Given the description of an element on the screen output the (x, y) to click on. 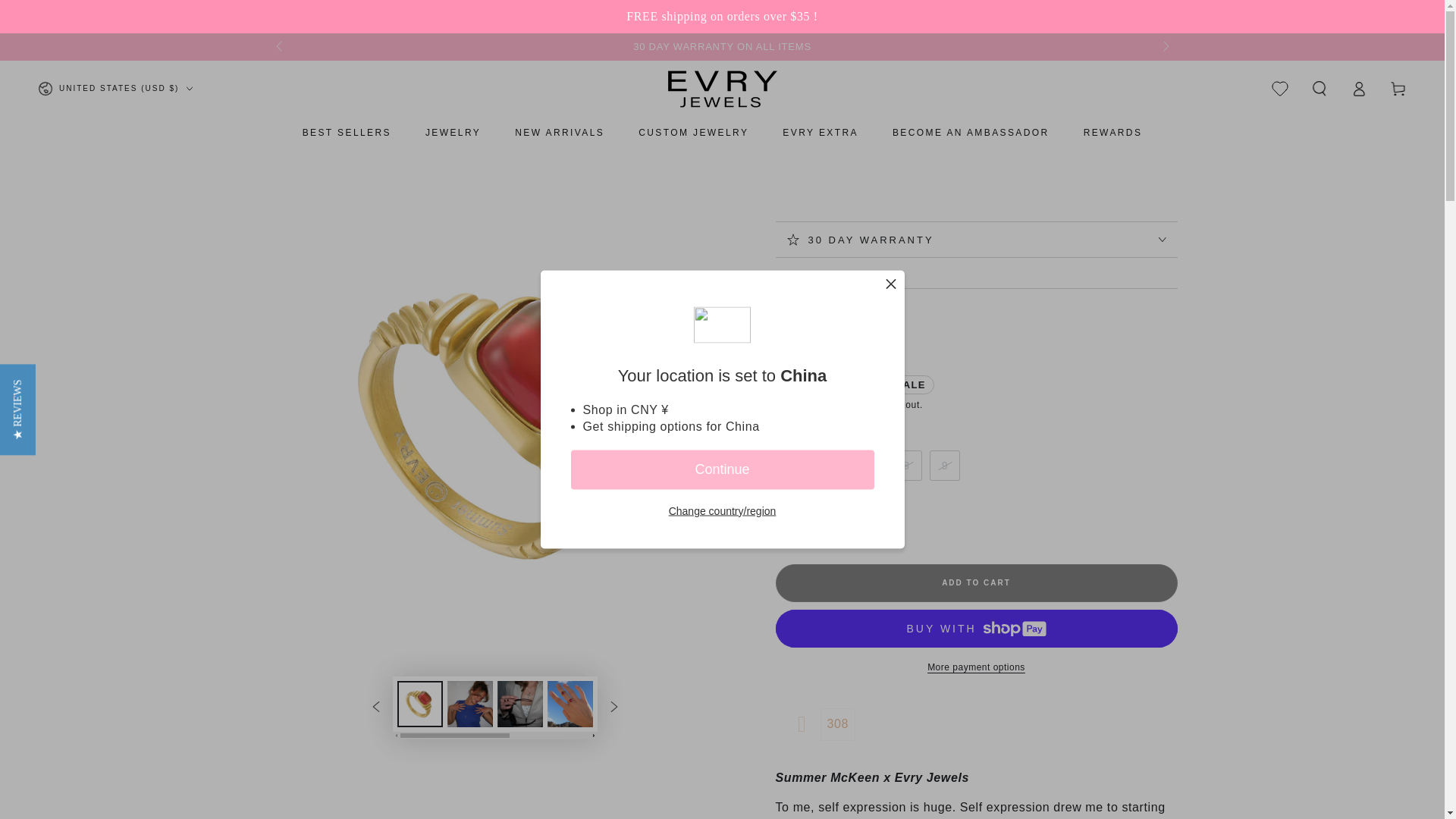
Back to the frontpage (788, 277)
Continue (721, 468)
Gold (788, 528)
Silver (820, 528)
SKIP TO CONTENT (67, 14)
